Given the description of an element on the screen output the (x, y) to click on. 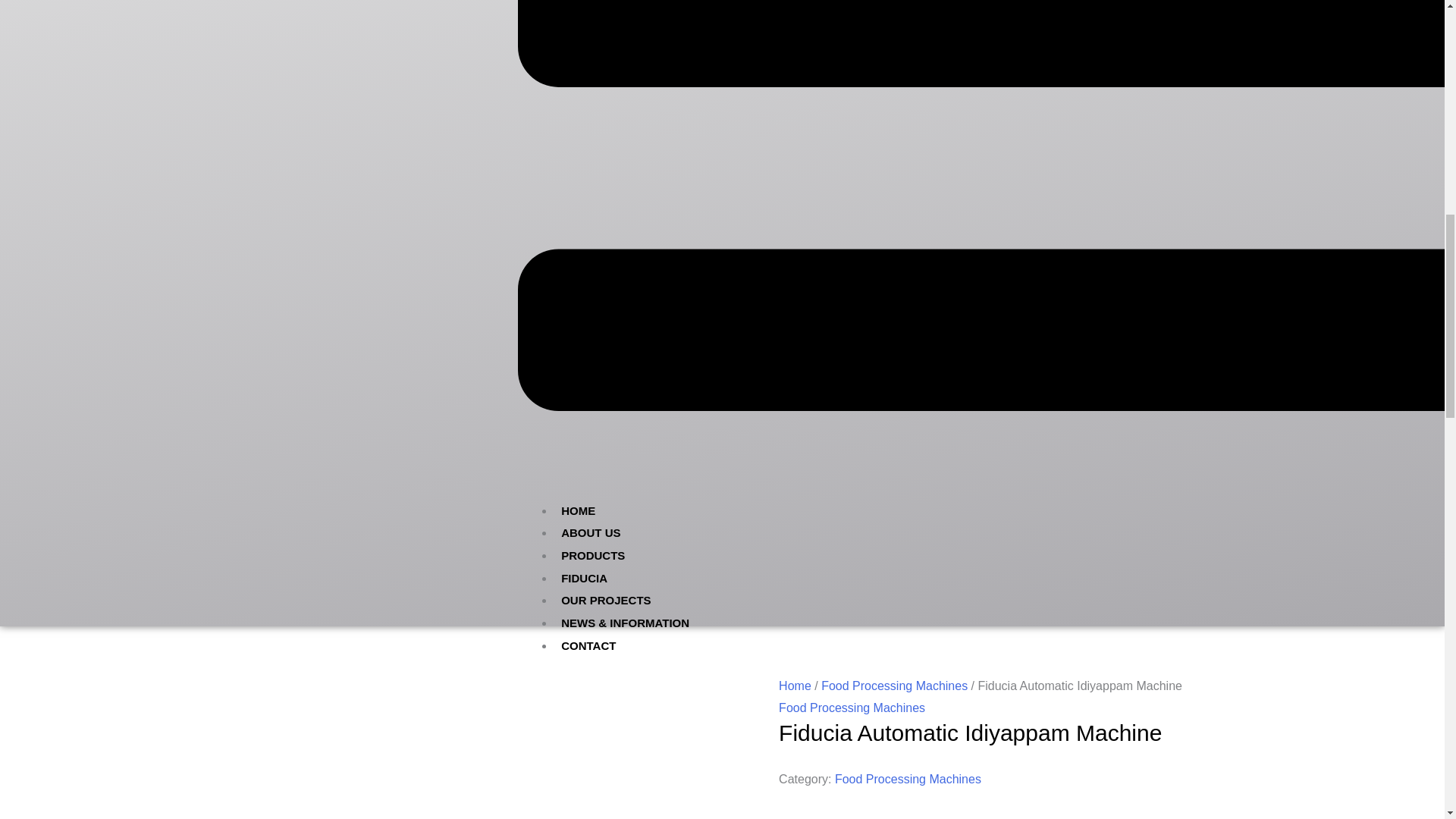
Food Processing Machines (851, 707)
OUR PROJECTS (606, 600)
ABOUT US (590, 532)
PRODUCTS (592, 555)
FIDUCIA (584, 577)
Food Processing Machines (894, 685)
HOME (578, 510)
Food Processing Machines (907, 779)
CONTACT (588, 645)
Home (794, 685)
